Given the description of an element on the screen output the (x, y) to click on. 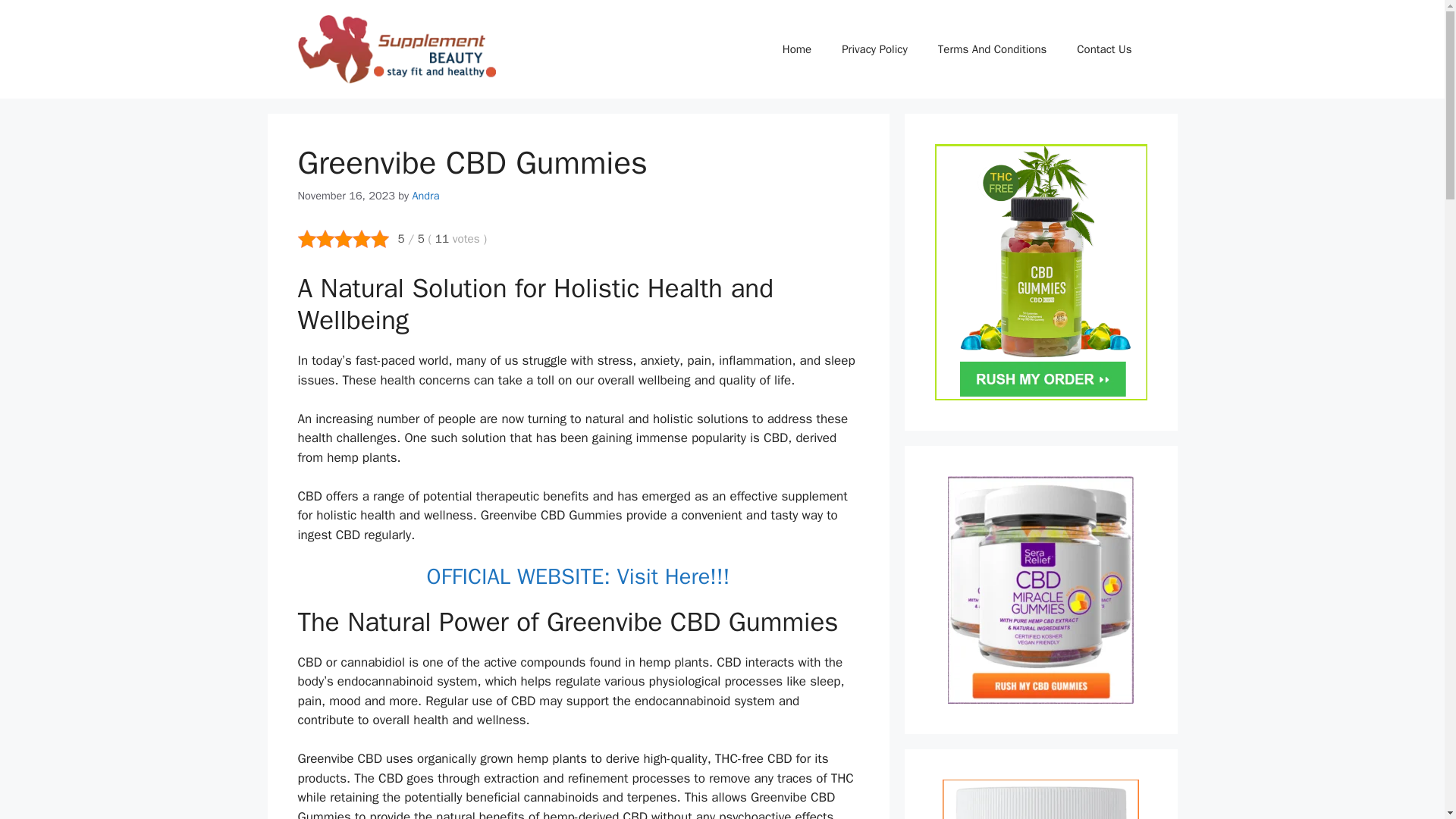
OFFICIAL WEBSITE: Visit Here!!! (578, 576)
Home (797, 49)
Andra (425, 195)
Contact Us (1104, 49)
Privacy Policy (875, 49)
View all posts by Andra (425, 195)
Terms And Conditions (992, 49)
